Given the description of an element on the screen output the (x, y) to click on. 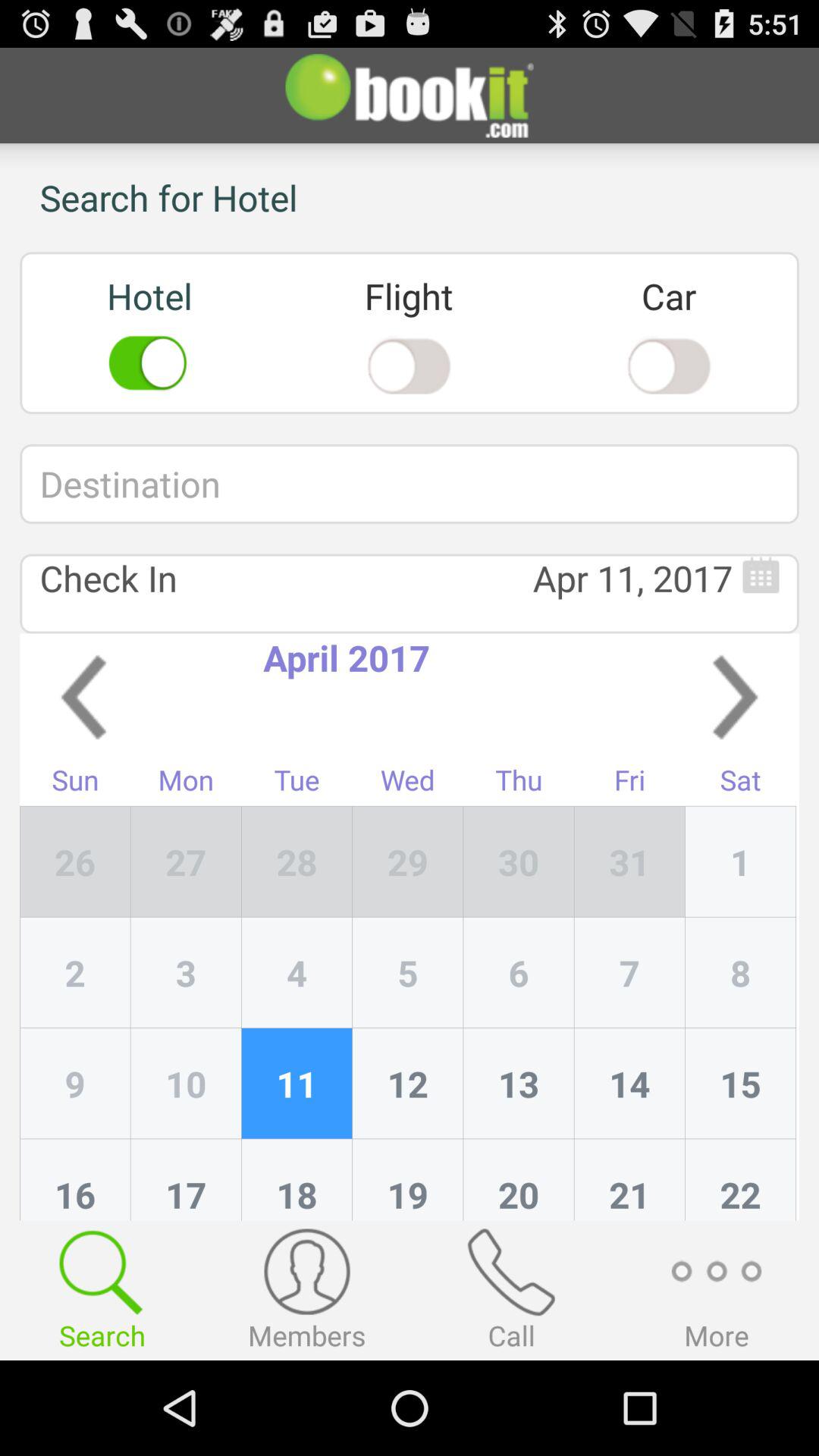
launch app next to sat icon (629, 861)
